Given the description of an element on the screen output the (x, y) to click on. 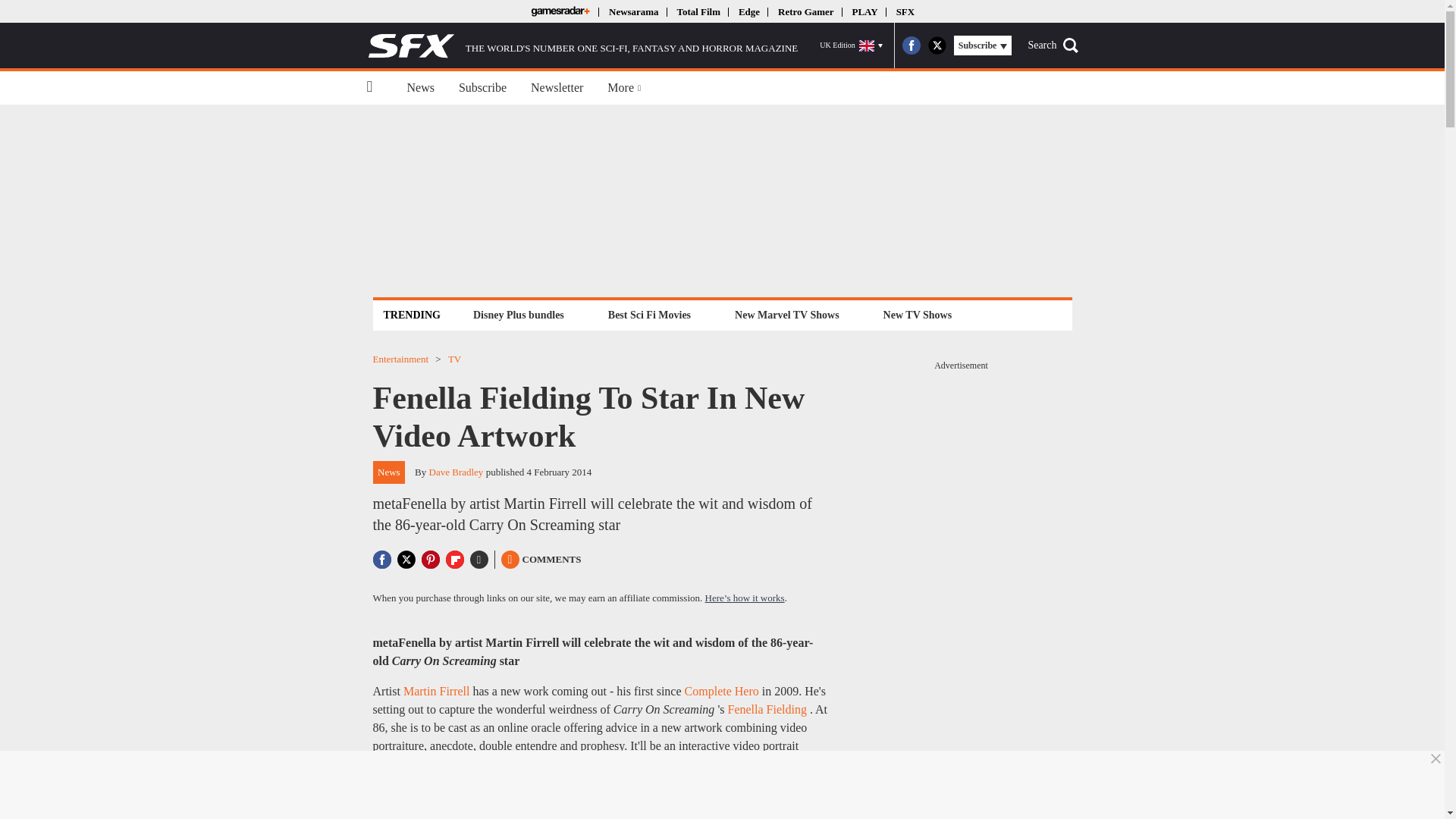
Subscribe (482, 87)
Entertainment (400, 358)
Retro Gamer (805, 11)
Disney Plus bundles (518, 314)
Edge (749, 11)
PLAY (864, 11)
Best Sci Fi Movies (648, 314)
Newsarama (633, 11)
News (419, 87)
Total Film (698, 11)
THE WORLD'S NUMBER ONE SCI-FI, FANTASY AND HORROR MAGAZINE (581, 44)
UK Edition (850, 45)
SFX (905, 11)
